Given the description of an element on the screen output the (x, y) to click on. 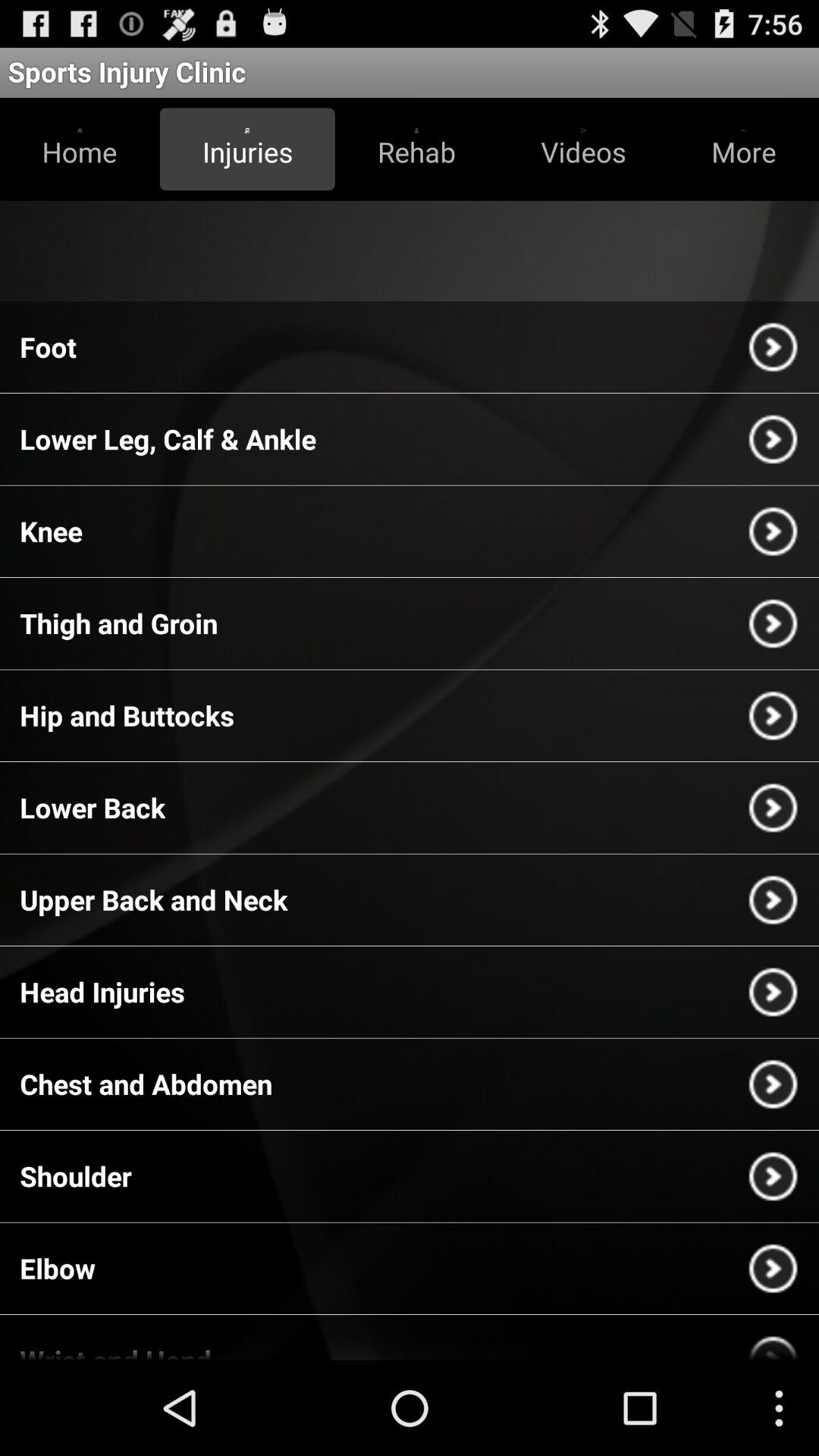
swipe to the foot icon (47, 346)
